Given the description of an element on the screen output the (x, y) to click on. 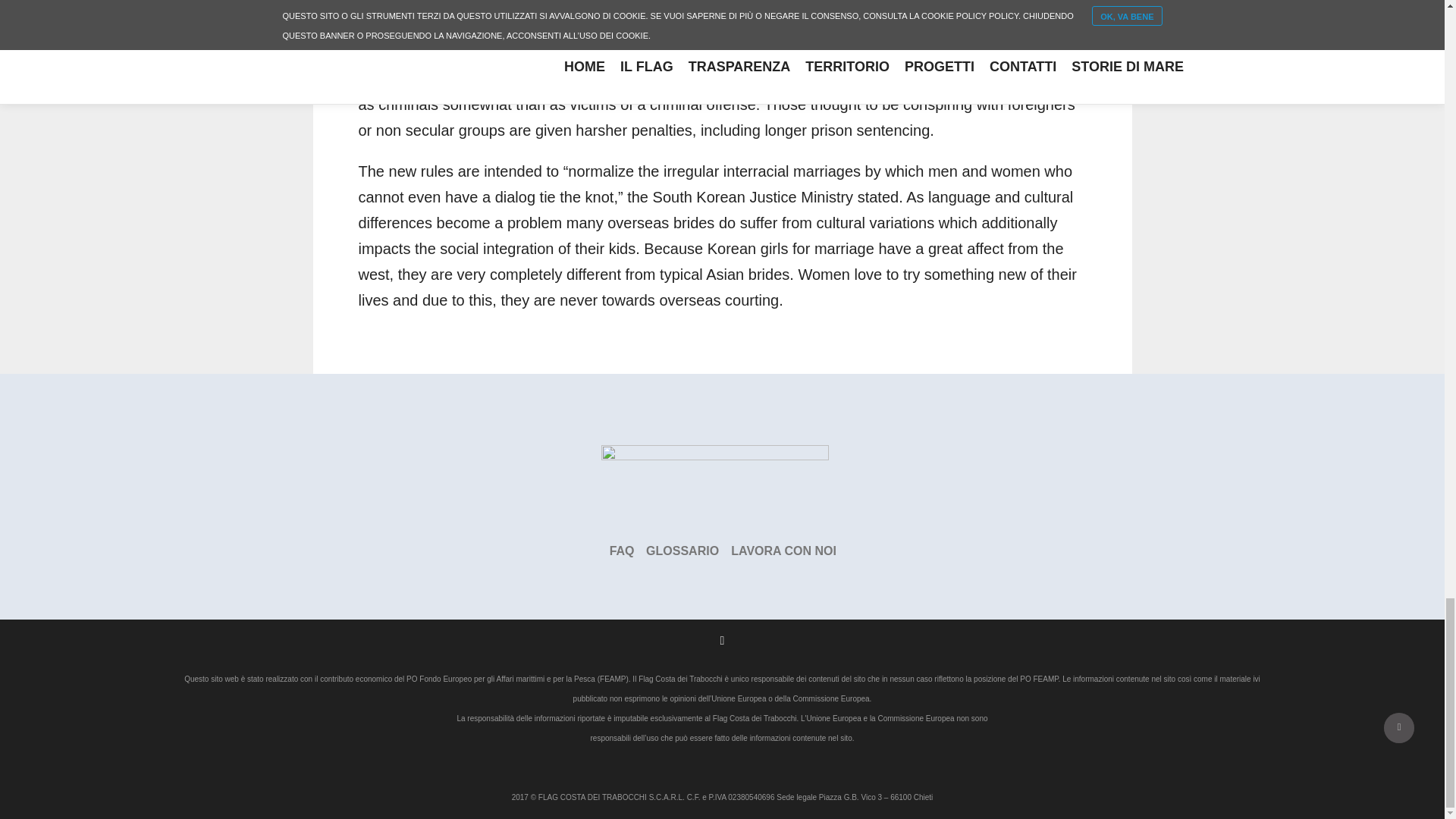
GLOSSARIO (684, 550)
LAVORA CON NOI (782, 550)
FAQ (622, 550)
